Given the description of an element on the screen output the (x, y) to click on. 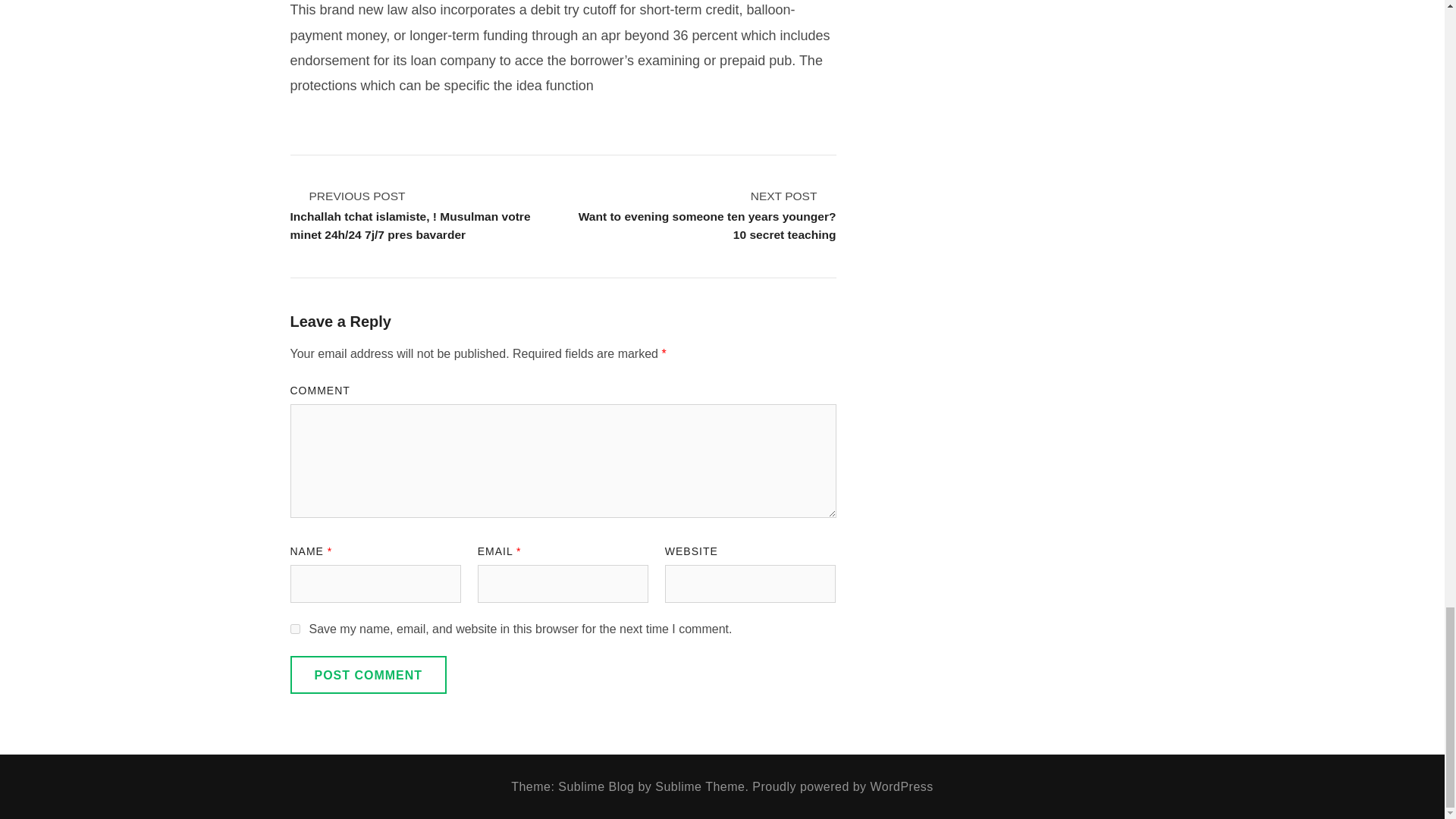
Sublime Theme (699, 786)
yes (294, 628)
Post Comment (367, 674)
Post Comment (367, 674)
Proudly powered by WordPress (842, 786)
